Given the description of an element on the screen output the (x, y) to click on. 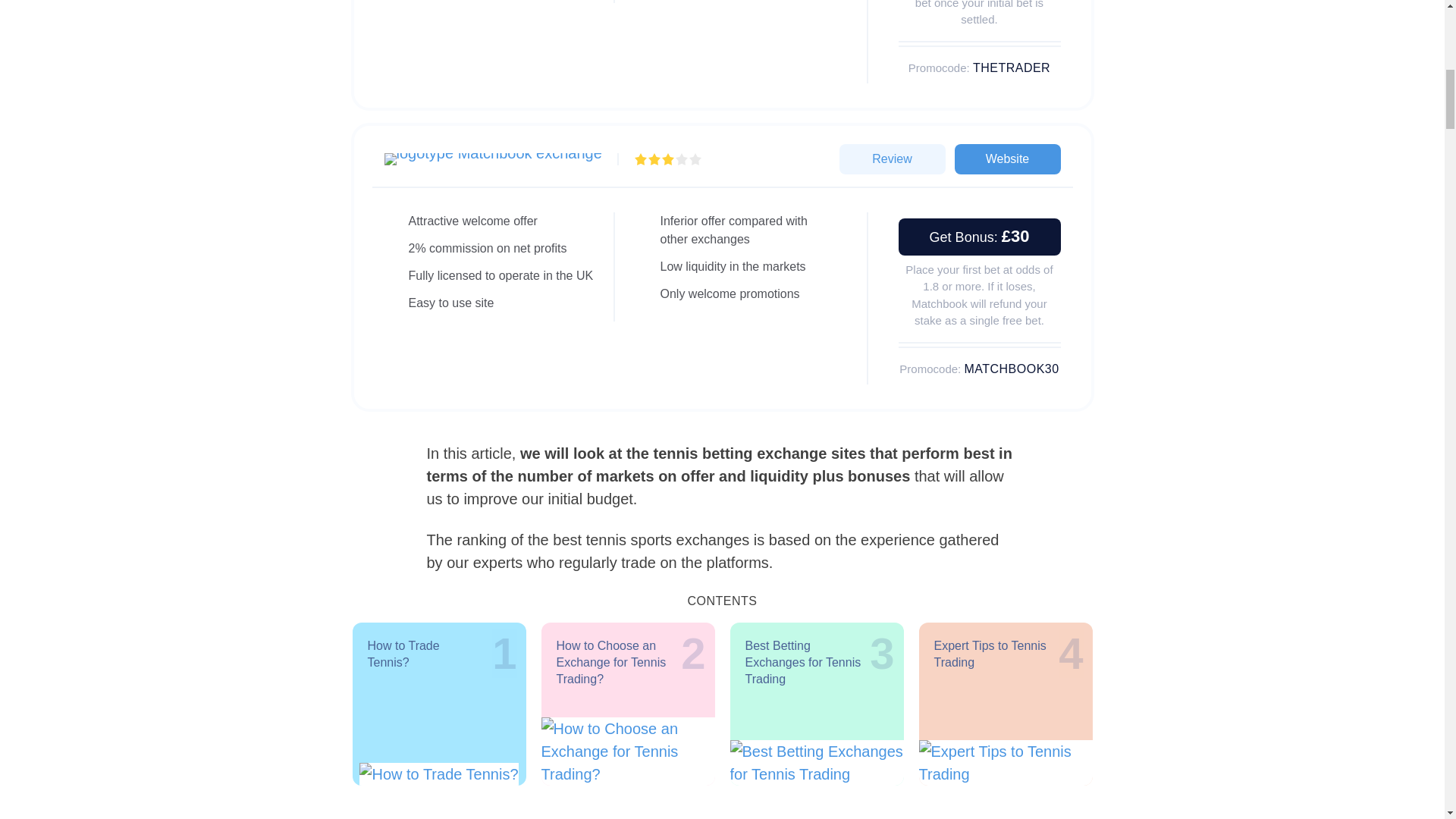
Website (627, 702)
Review (1006, 159)
